Given the description of an element on the screen output the (x, y) to click on. 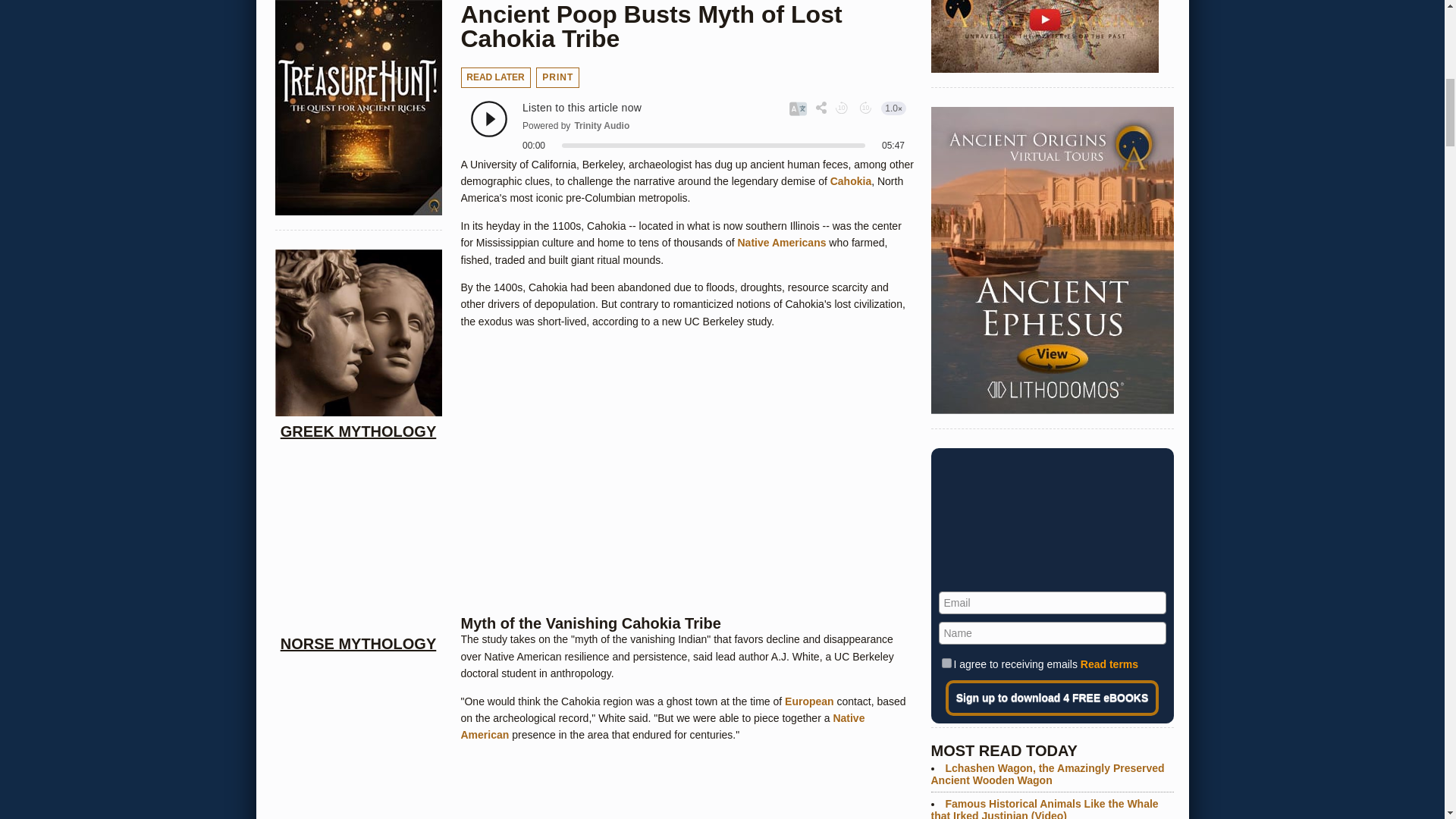
I approve receiving emails (947, 663)
